Given the description of an element on the screen output the (x, y) to click on. 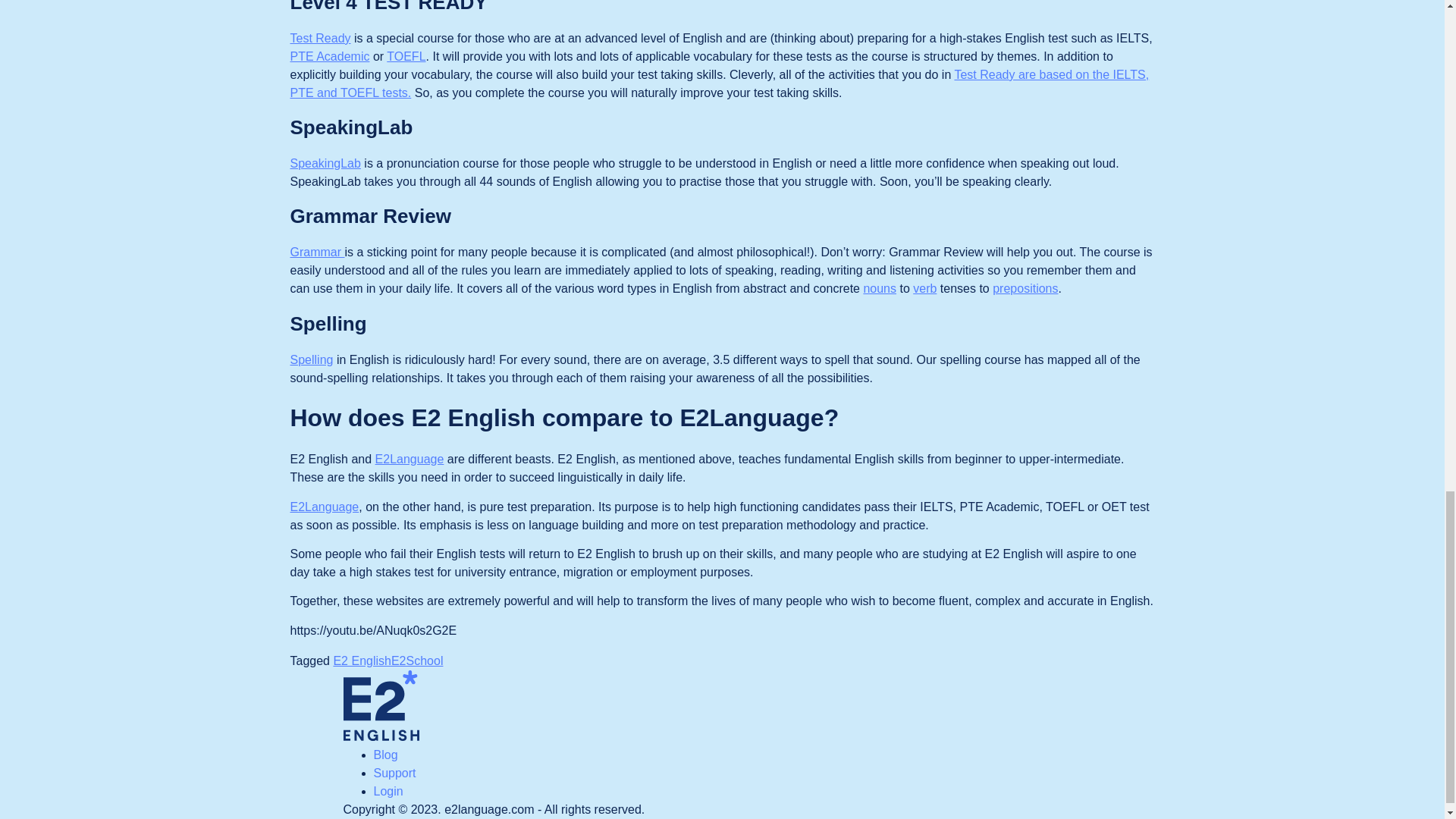
Login (387, 790)
nouns (879, 287)
Test Ready (319, 38)
Test Ready are based on the IELTS, PTE and TOEFL tests. (718, 83)
SpeakingLab (324, 163)
verb (924, 287)
TOEFL (406, 56)
E2School (417, 660)
Support (393, 772)
E2Language (323, 506)
E2 English (362, 660)
Grammar (316, 251)
Blog (384, 754)
Spelling (311, 359)
E2Language (409, 459)
